Given the description of an element on the screen output the (x, y) to click on. 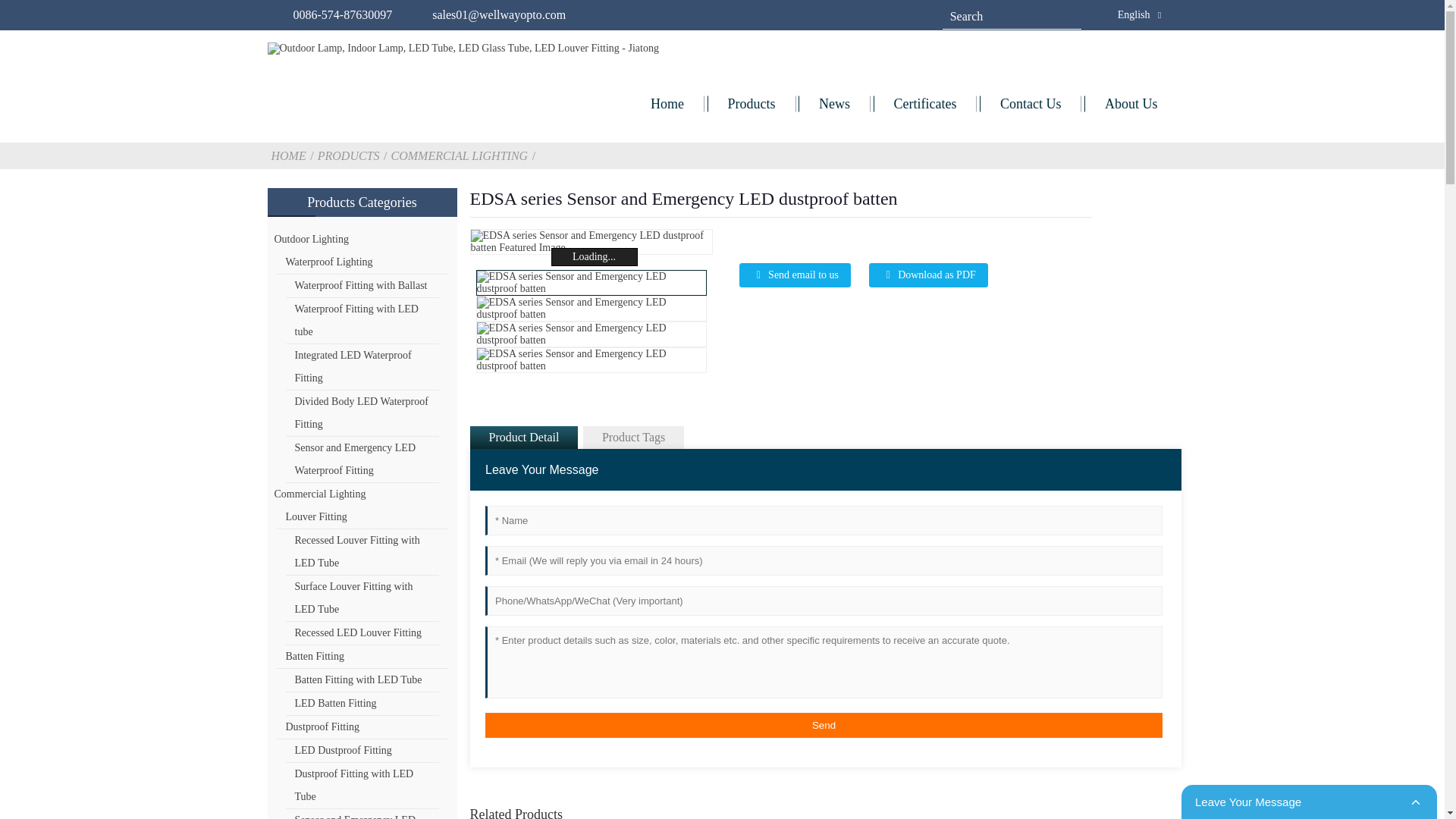
Commercial Lighting (461, 155)
Home (667, 103)
English (1121, 14)
0086-574-87630097 (341, 14)
Products (751, 103)
Products (350, 155)
